Given the description of an element on the screen output the (x, y) to click on. 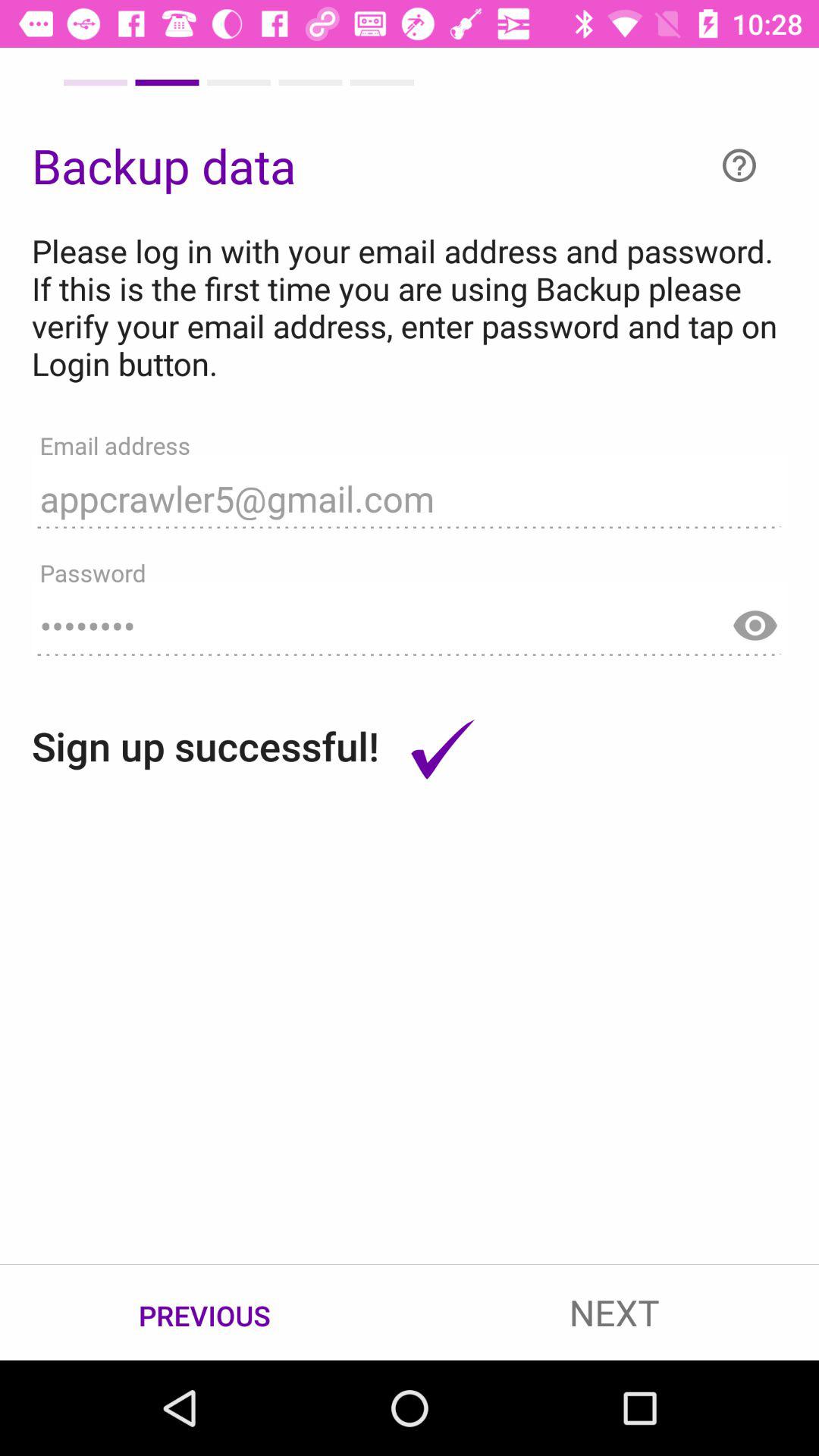
click previous item (204, 1313)
